Given the description of an element on the screen output the (x, y) to click on. 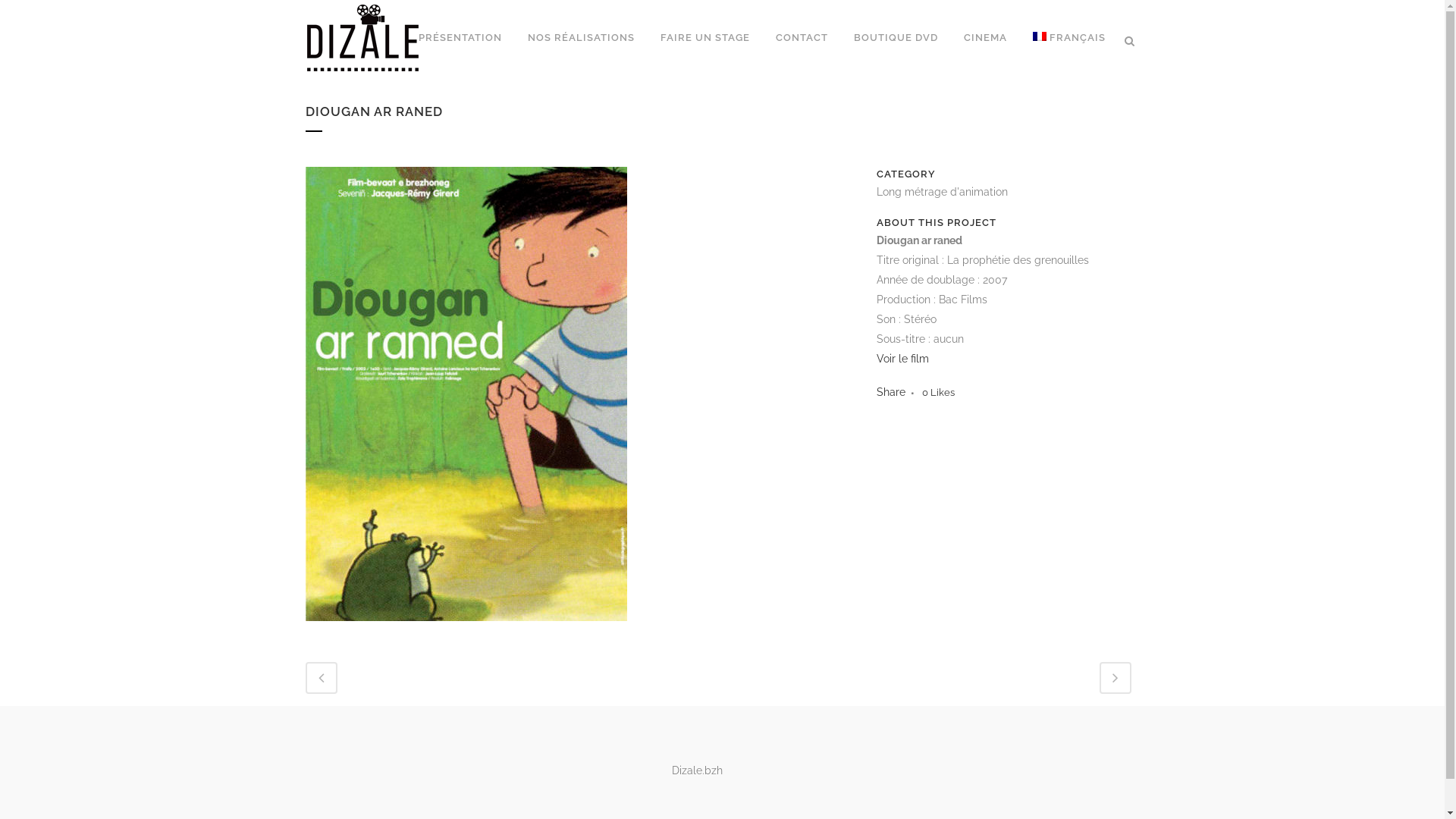
CINEMA Element type: text (984, 37)
Share Element type: text (890, 391)
Dizale.bzh Element type: text (696, 770)
Voir le film Element type: text (902, 358)
FAIRE UN STAGE Element type: text (704, 37)
BOUTIQUE DVD Element type: text (895, 37)
0 Likes Element type: text (938, 392)
CONTACT Element type: text (801, 37)
